Given the description of an element on the screen output the (x, y) to click on. 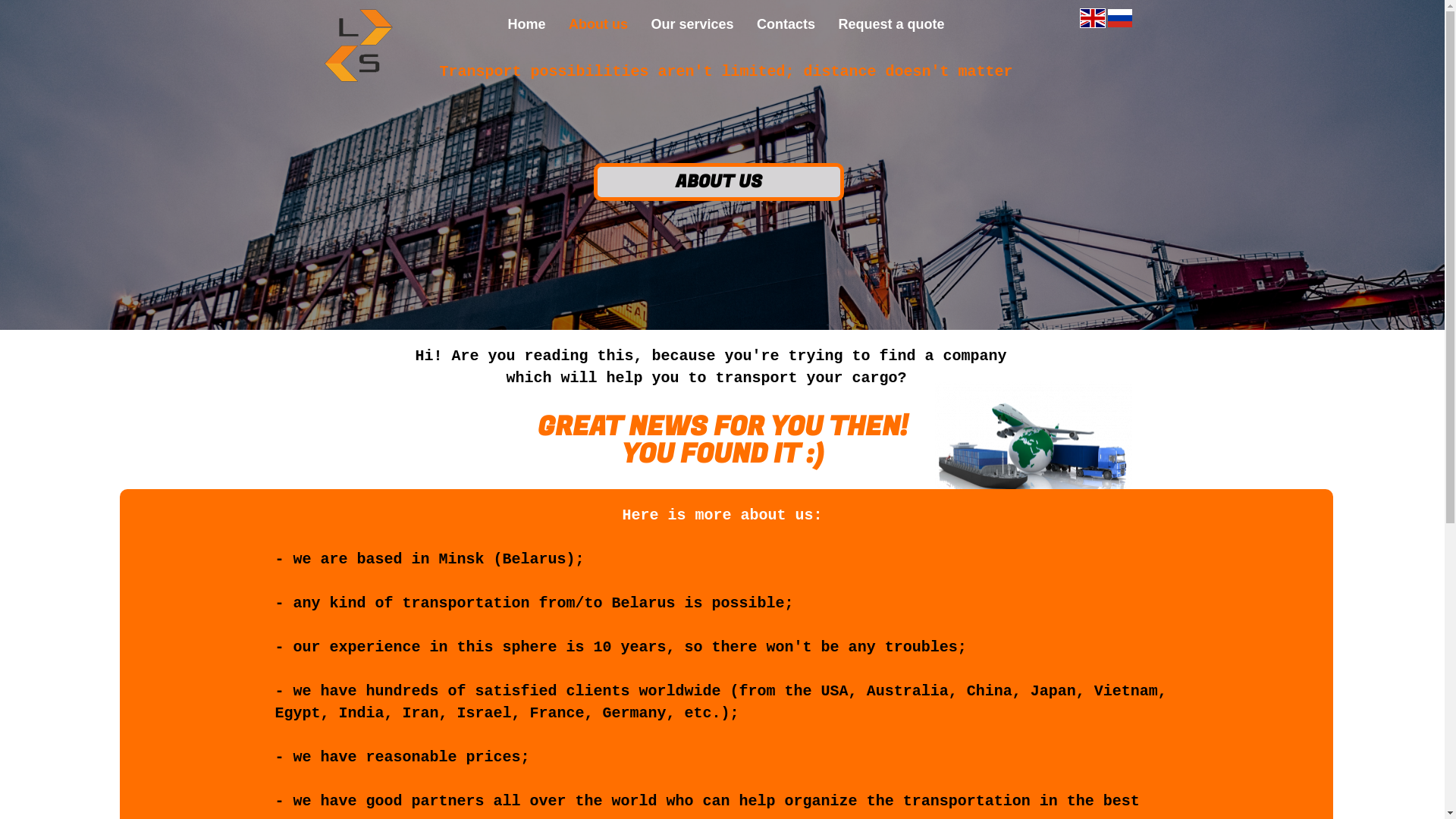
Request a quote Element type: text (890, 24)
About us Element type: text (598, 24)
Home Element type: text (526, 24)
Contacts Element type: text (785, 24)
English Element type: hover (1091, 17)
Our services Element type: text (691, 24)
